Given the description of an element on the screen output the (x, y) to click on. 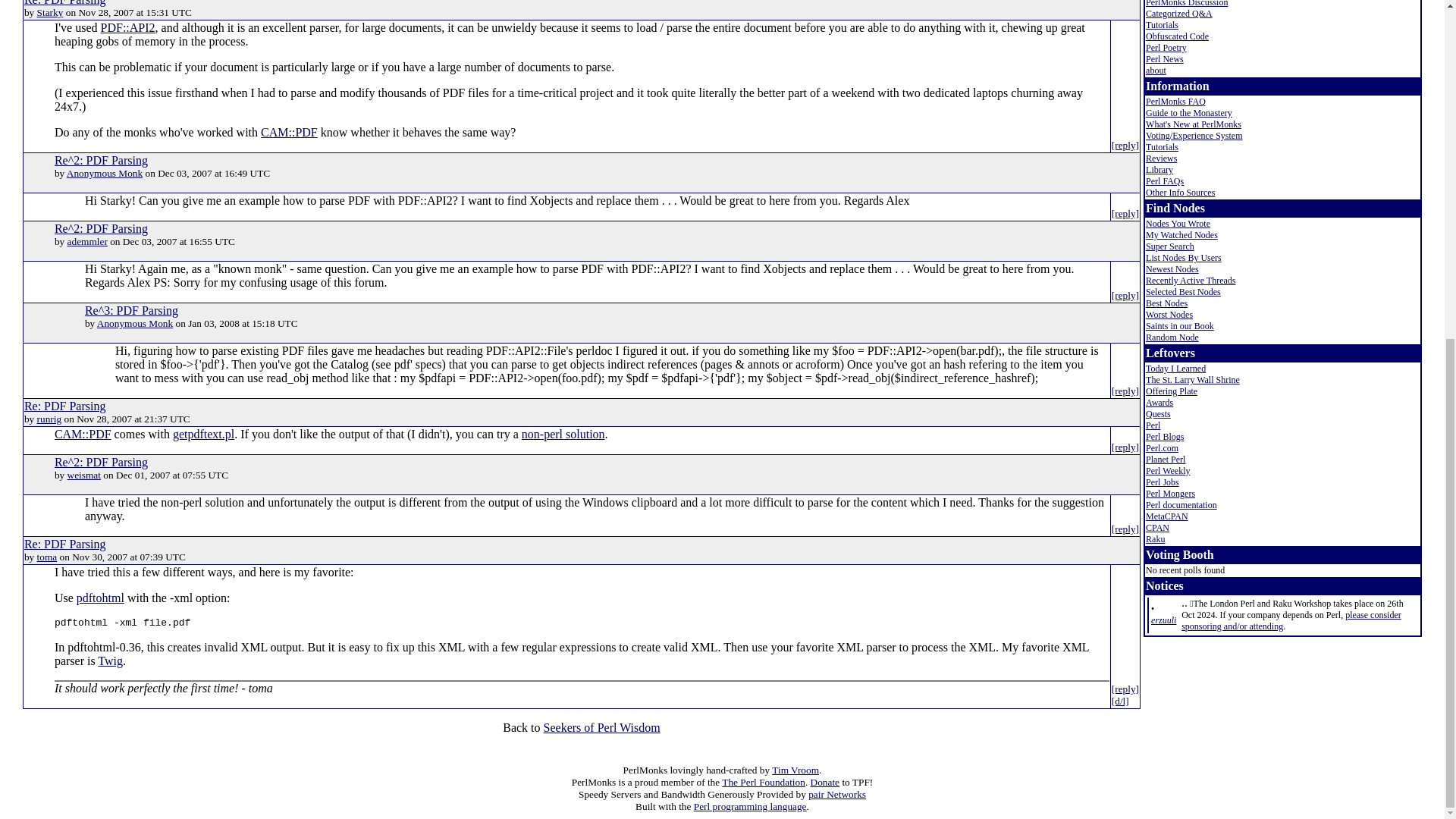
2024-05-30 14:23:36 (1163, 620)
